Given the description of an element on the screen output the (x, y) to click on. 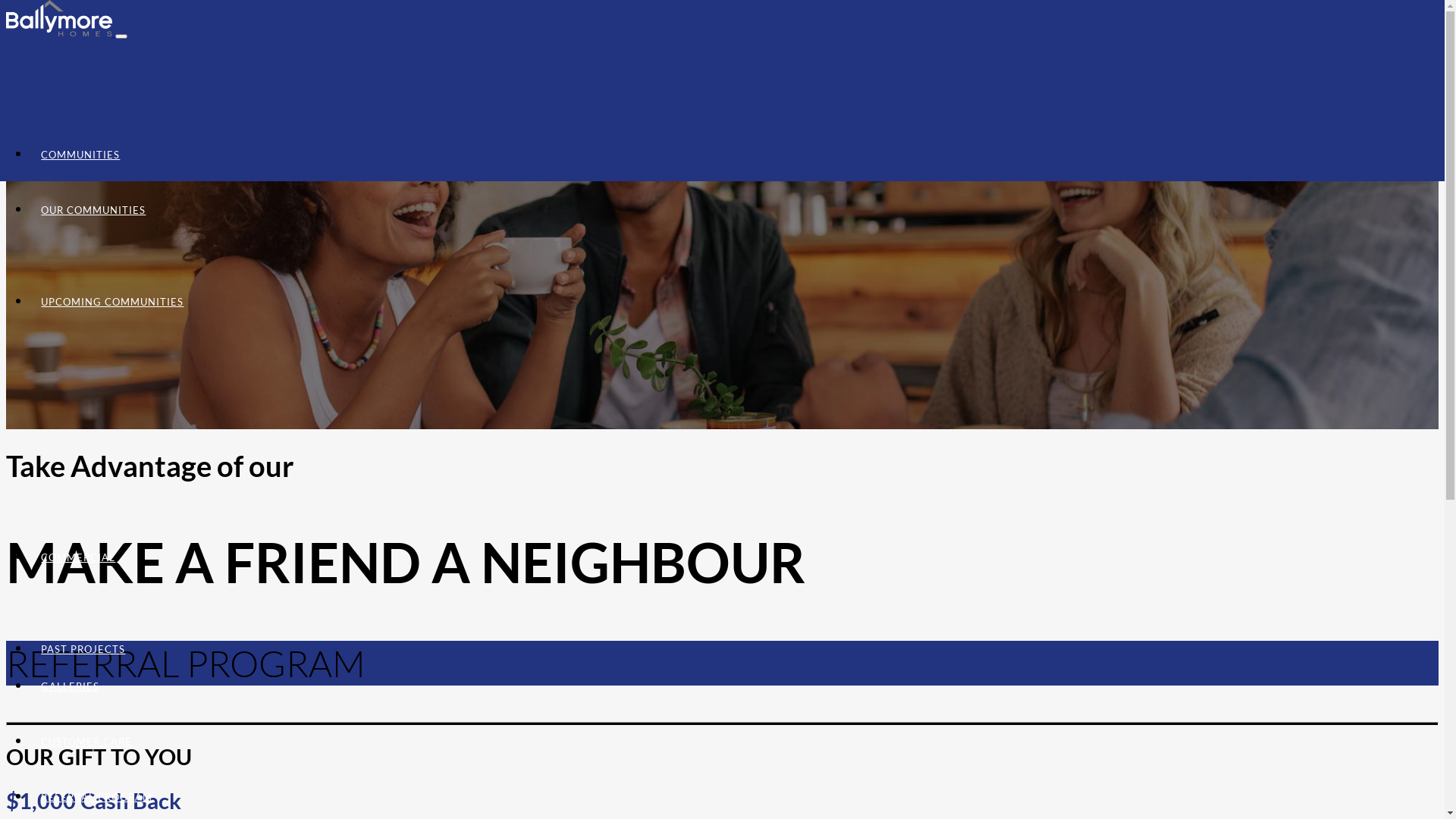
UPCOMING COMMUNITIES Element type: text (112, 301)
COMMUNITIES Element type: text (80, 154)
PAST PROJECTS Element type: text (83, 649)
GALLERIES Element type: text (70, 686)
COMMERCIAL Element type: text (78, 557)
CUSTOMER CARE Element type: text (86, 741)
REFERRAL PROGRAM Element type: text (96, 796)
OUR COMMUNITIES Element type: text (93, 209)
